Given the description of an element on the screen output the (x, y) to click on. 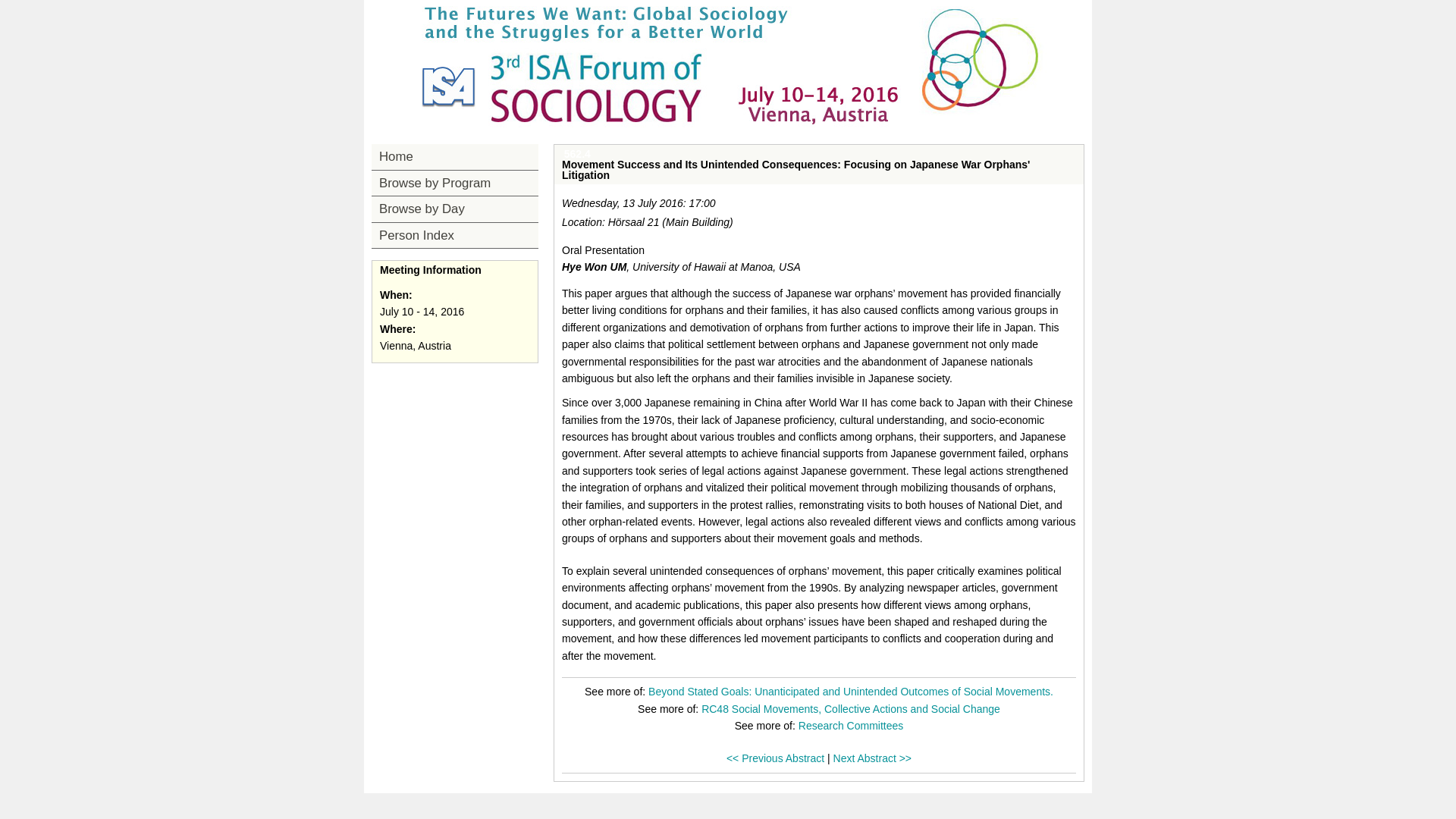
Home (454, 156)
Browse by Day (454, 208)
Person Index (454, 235)
Browse by Program (454, 183)
RC48 Social Movements, Collective Actions and Social Change (850, 708)
Research Committees (850, 725)
